Given the description of an element on the screen output the (x, y) to click on. 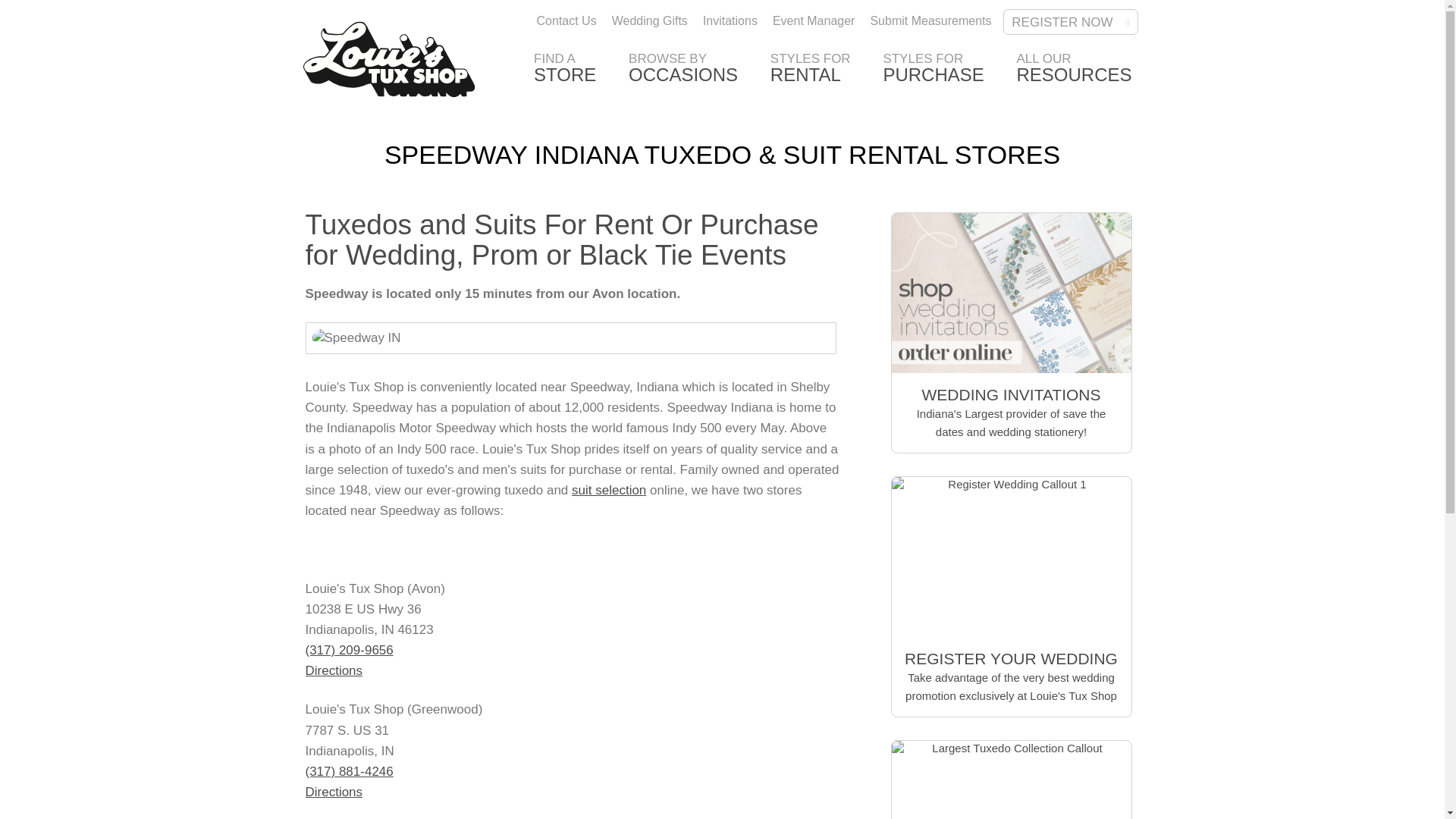
Louie's Tux Shop (389, 59)
Find a Store (564, 70)
Browse By Occasions (683, 70)
REGISTER NOW (683, 70)
Styles for Rental (564, 70)
Register Your Wedding (933, 70)
